Given the description of an element on the screen output the (x, y) to click on. 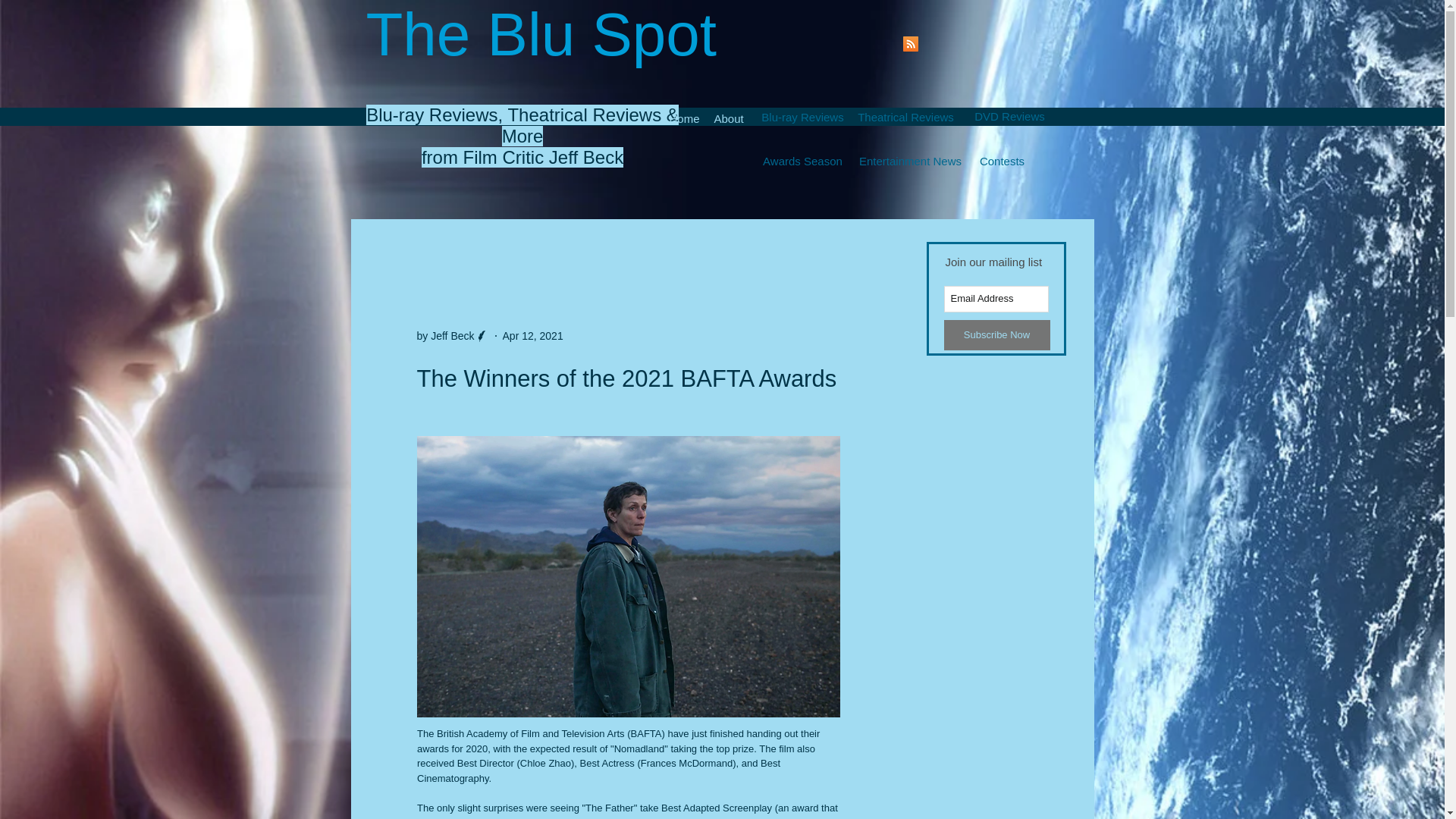
DVD Reviews (1008, 116)
About (728, 116)
Entertainment News (910, 160)
Theatrical Reviews (905, 116)
Twitter Follow (867, 43)
Twitter Tweet (850, 249)
Contests (1001, 160)
Home (683, 116)
RSS Feed (910, 43)
Blu-ray Reviews (803, 116)
